Given the description of an element on the screen output the (x, y) to click on. 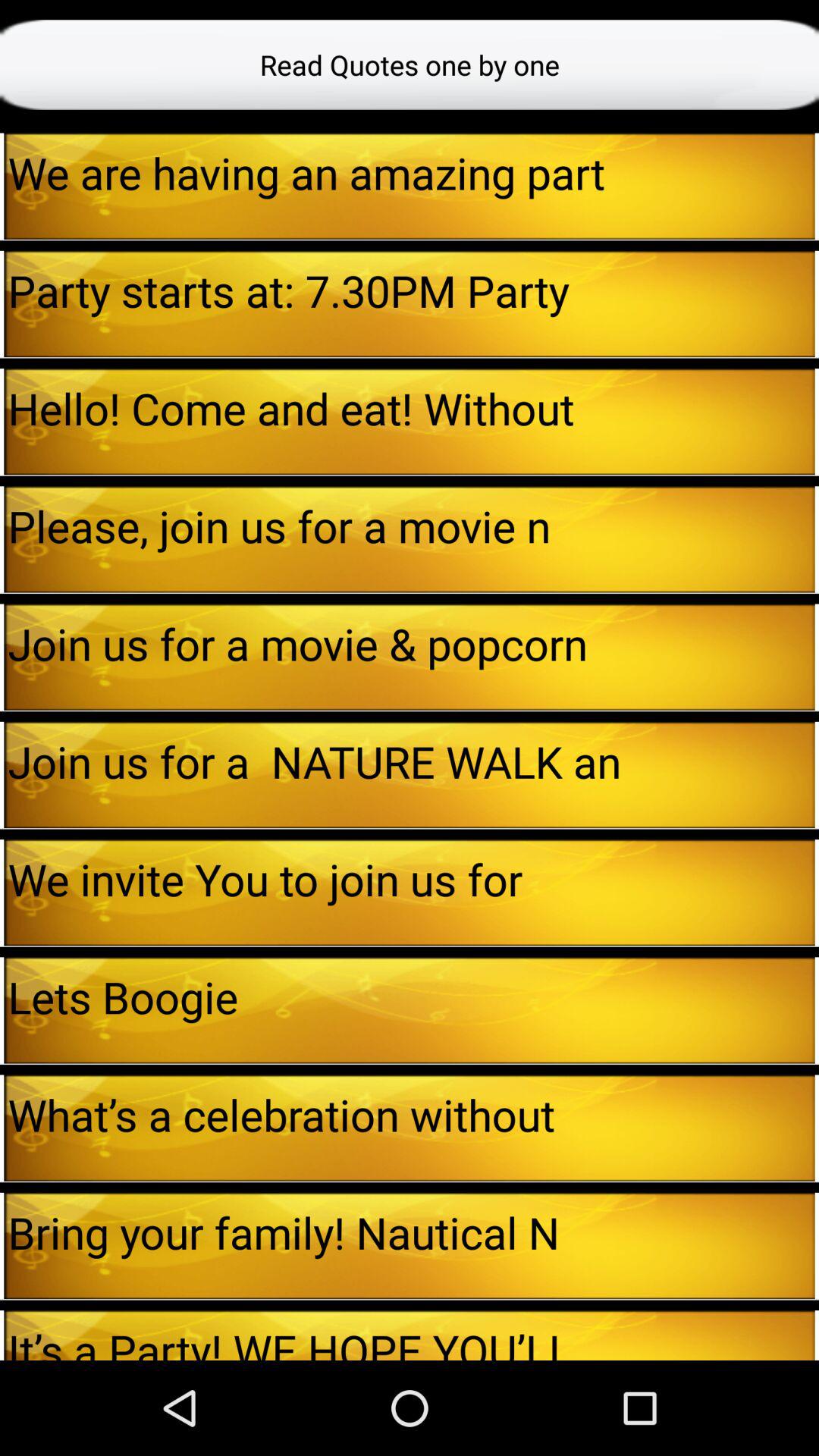
press item to the left of join us for icon (1, 774)
